Given the description of an element on the screen output the (x, y) to click on. 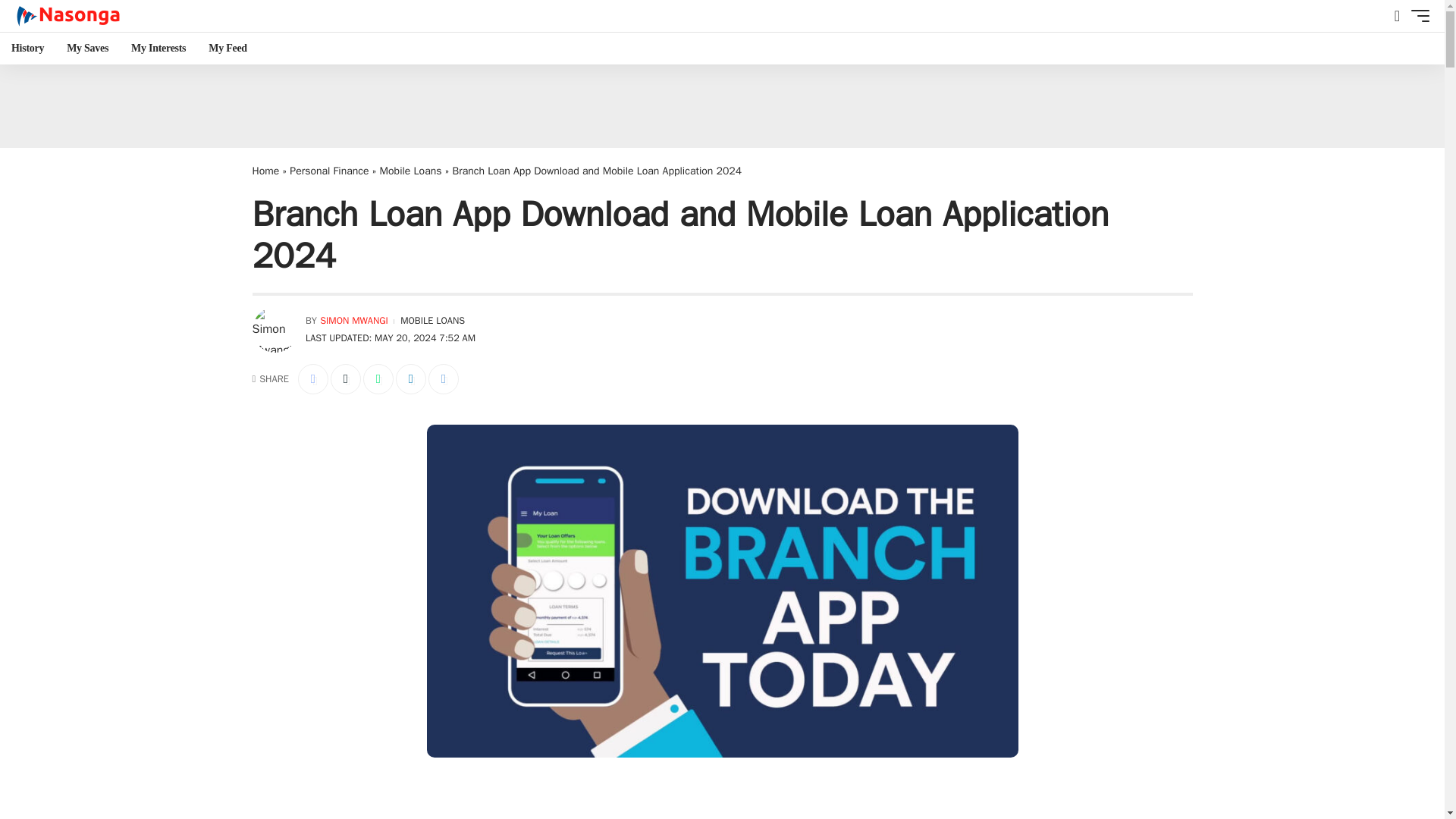
3rd party ad content (721, 803)
MOBILE LOANS (432, 321)
My Saves (87, 48)
My Feed (227, 48)
History (27, 48)
SIMON MWANGI (354, 321)
Home (265, 170)
My Interests (157, 48)
Mobile Loans (411, 170)
Search (1400, 114)
